Given the description of an element on the screen output the (x, y) to click on. 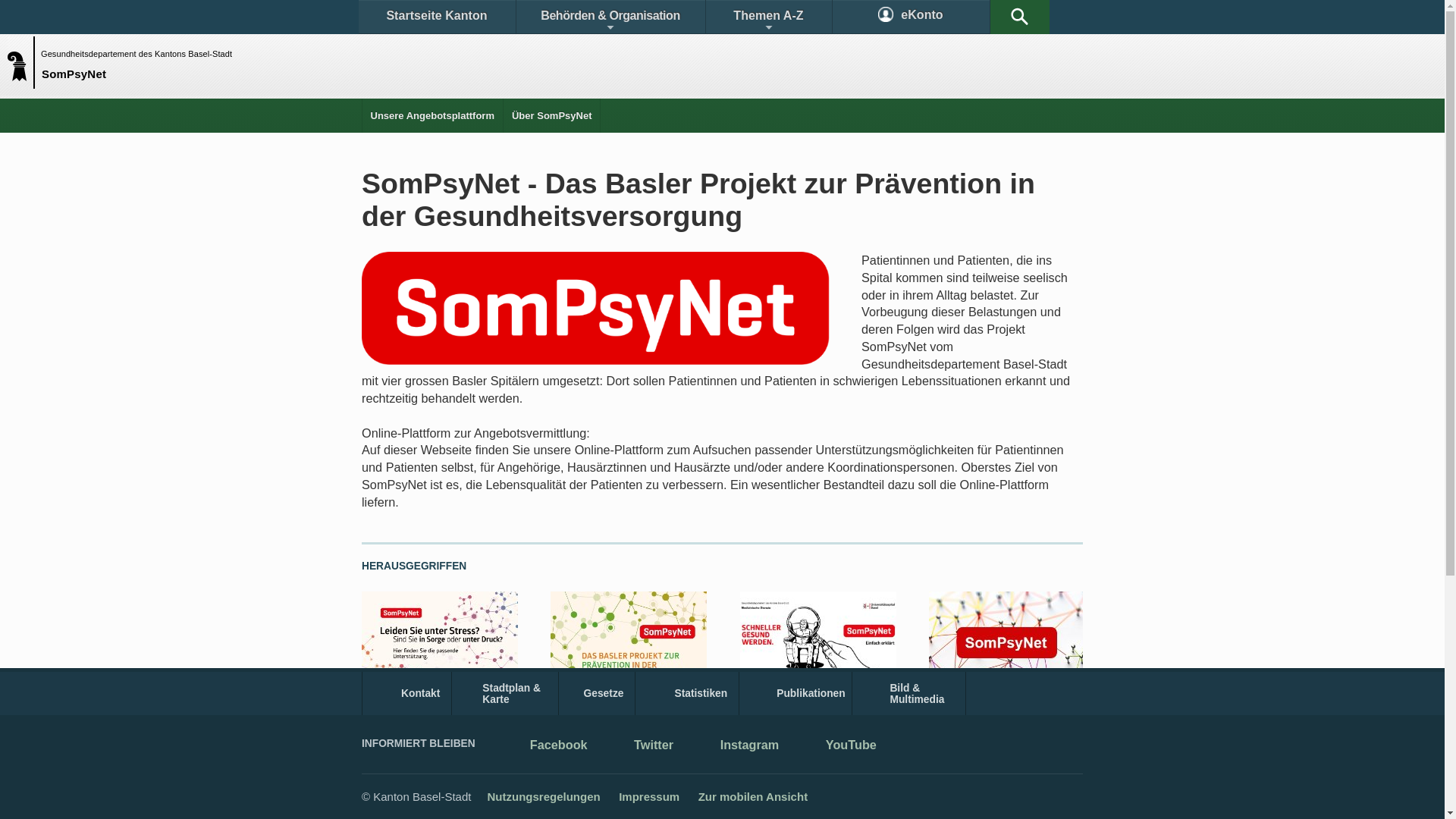
YouTube Element type: text (839, 746)
Statistiken Element type: text (687, 693)
Stadtplan & Karte Element type: text (504, 693)
Instagram Element type: text (738, 746)
Bild & Multimedia Element type: text (908, 693)
Facebook Element type: text (547, 746)
Kontakt Element type: text (406, 693)
Impressum Element type: text (648, 796)
Projektleitung Element type: text (966, 712)
Gesetze Element type: text (597, 693)
Twitter Element type: text (642, 746)
eKonto Element type: text (910, 17)
Nutzungsregelungen Element type: text (542, 796)
Startseite Kanton Element type: text (435, 17)
Themen A-Z Element type: text (768, 17)
Unsere Angebotsplattform Element type: text (432, 115)
Zur mobilen Ansicht Element type: text (752, 796)
Was ist SomPsyNet? Element type: text (606, 712)
Publikationen Element type: text (795, 693)
